Given the description of an element on the screen output the (x, y) to click on. 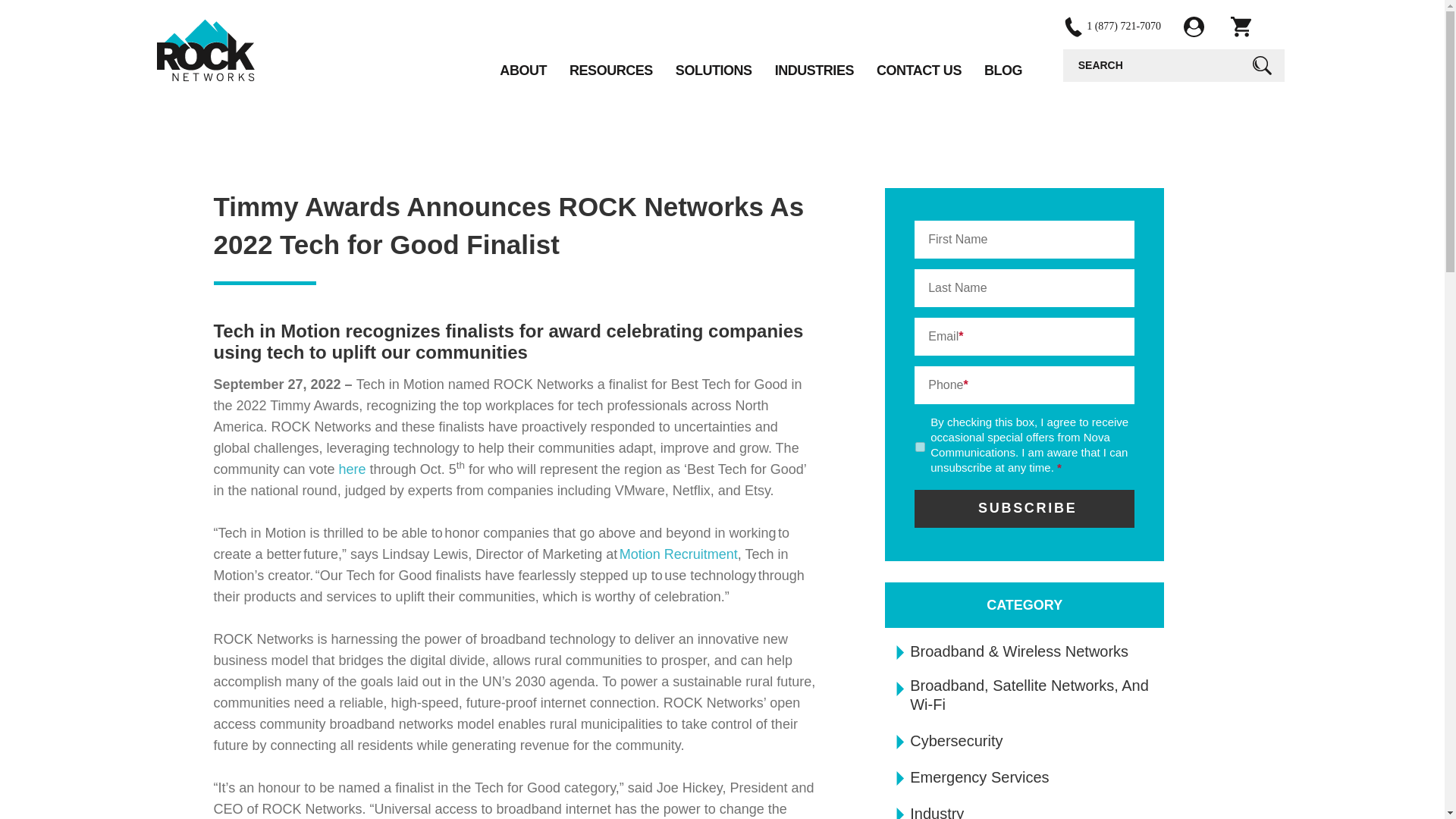
Search (1261, 65)
BLOG (1003, 70)
Subscribe (1024, 508)
SOLUTIONS (713, 70)
ROCK Networks (204, 48)
ABOUT (523, 70)
RESOURCES (610, 70)
INDUSTRIES (813, 70)
CONTACT US (918, 70)
